Given the description of an element on the screen output the (x, y) to click on. 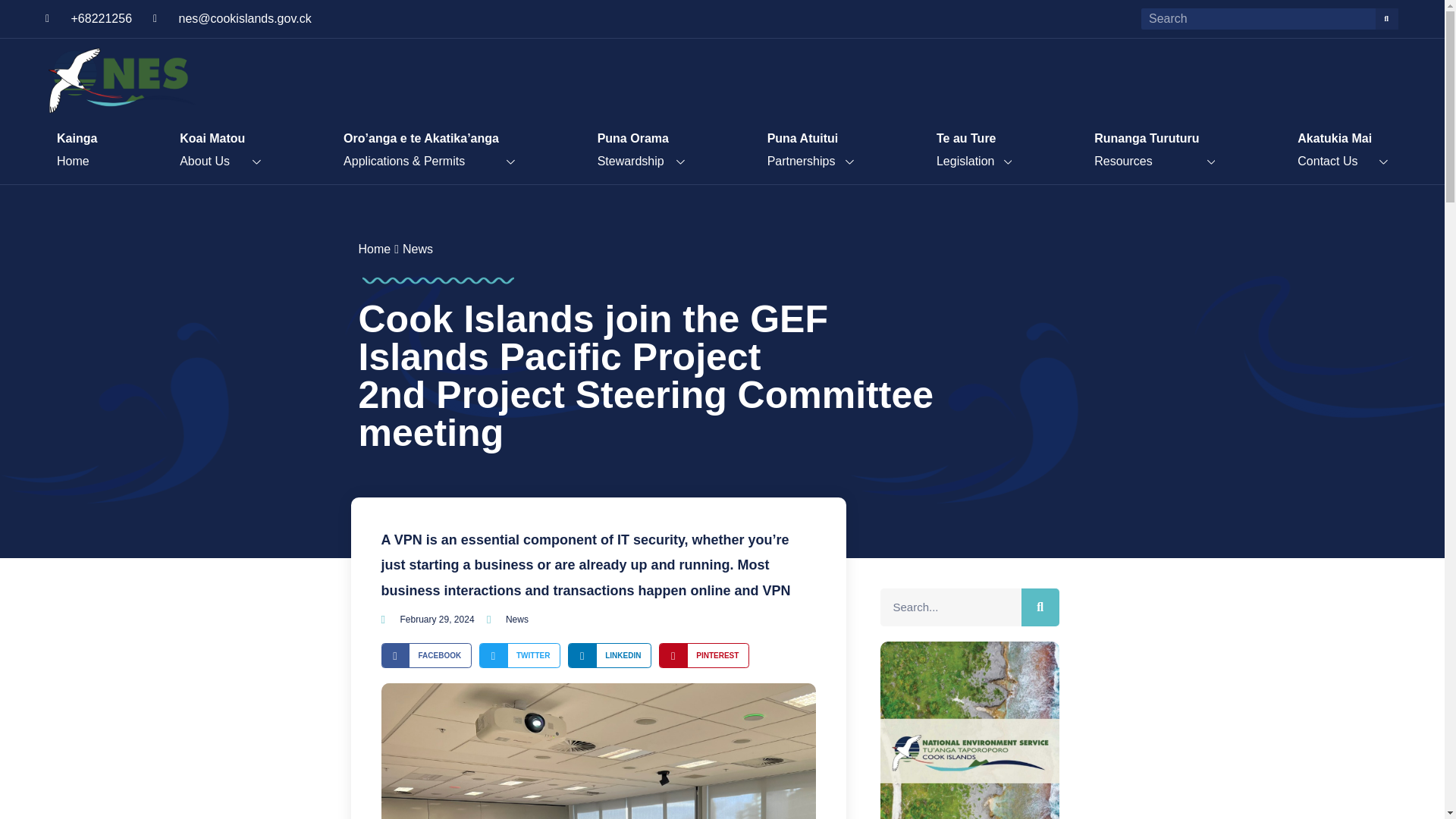
SEARCH (1386, 18)
